Given the description of an element on the screen output the (x, y) to click on. 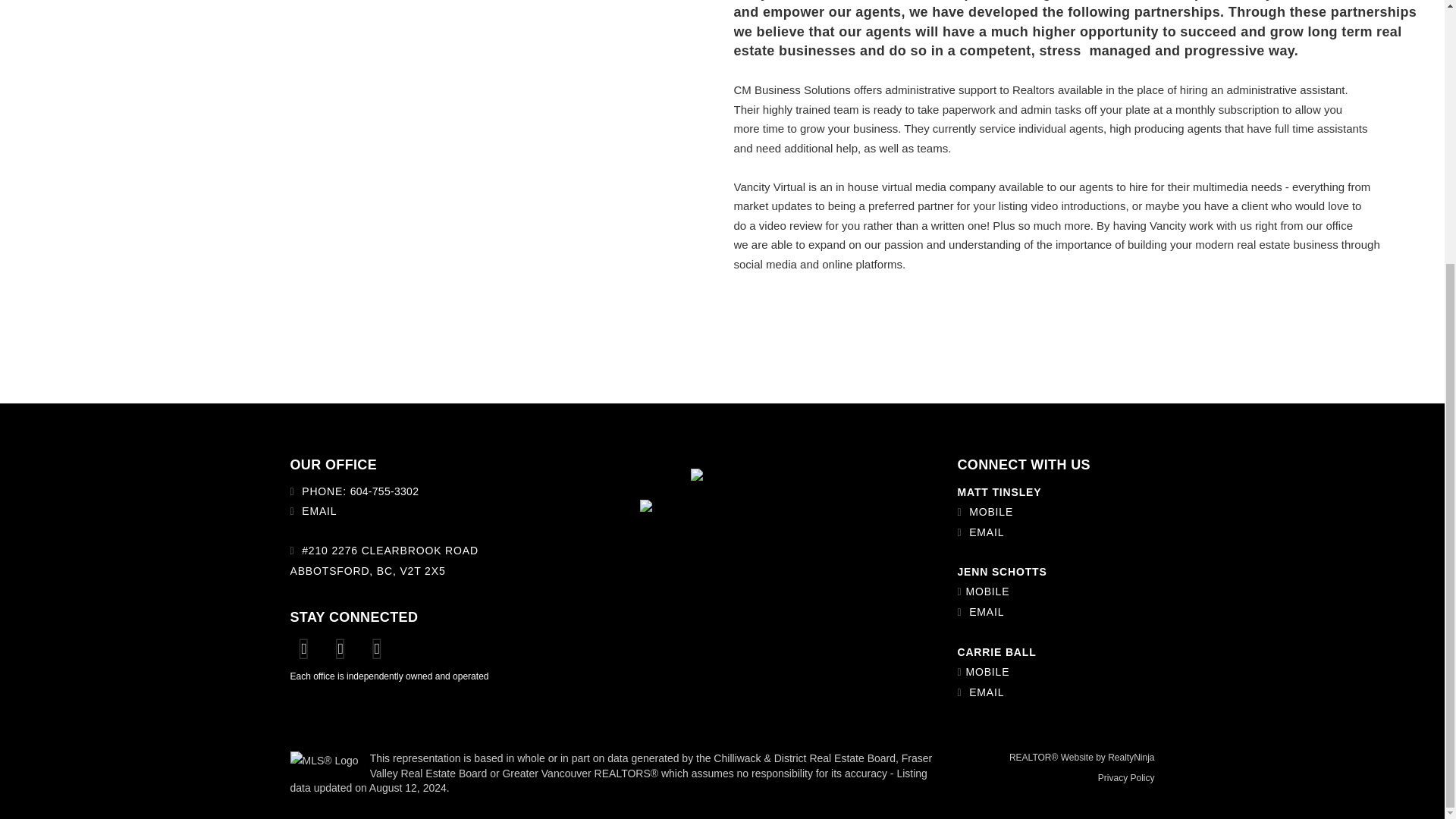
EMAIL (986, 532)
MOBIL (987, 511)
EMAIL (986, 612)
604-755-3302 (384, 491)
EMAIL (318, 510)
MOBILE (987, 591)
